Given the description of an element on the screen output the (x, y) to click on. 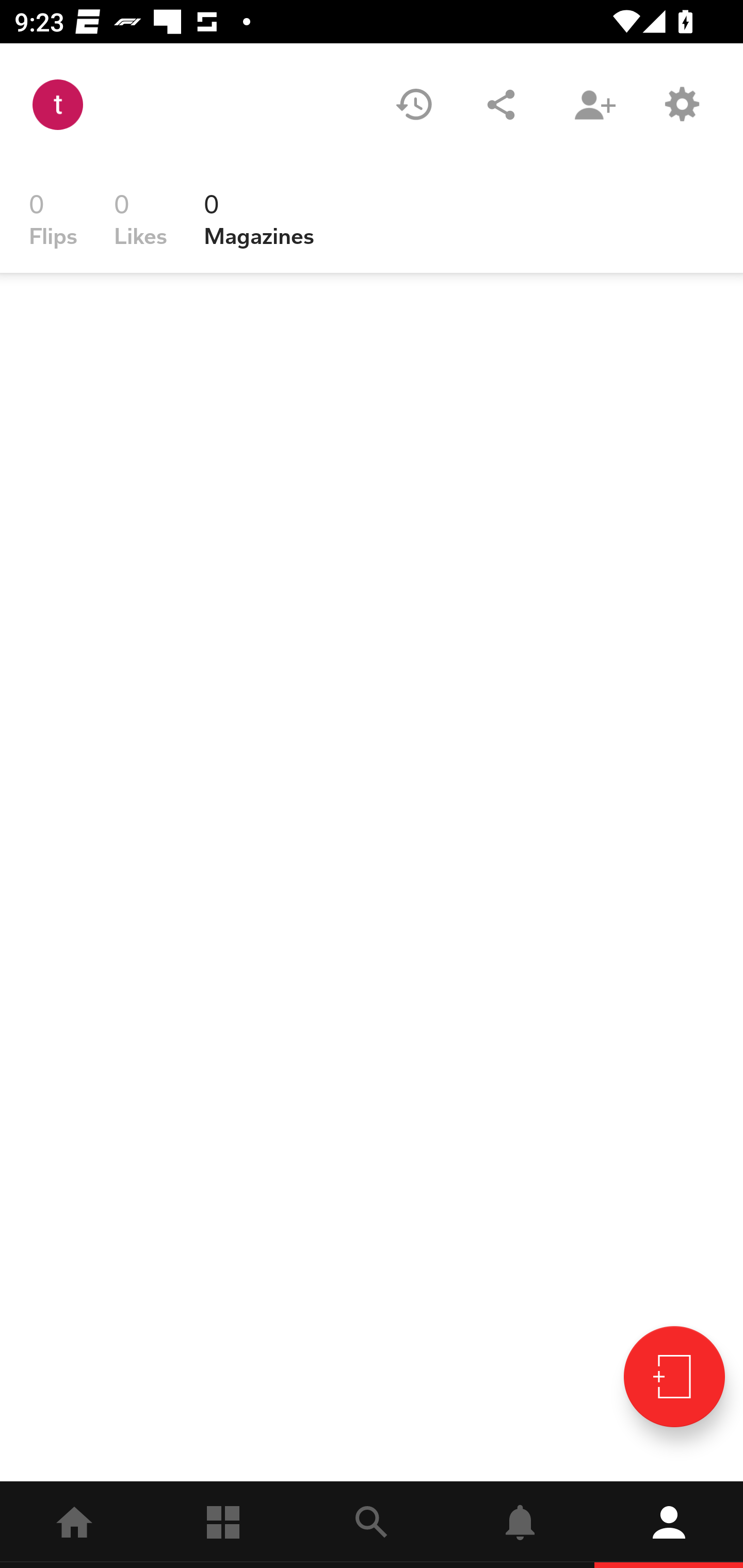
Share (500, 104)
Find Friends (594, 104)
Settings (681, 104)
0 Flips (53, 219)
0 Likes (140, 219)
0 Magazines (258, 219)
home (74, 1524)
Following (222, 1524)
explore (371, 1524)
Notifications (519, 1524)
Profile (668, 1524)
